Given the description of an element on the screen output the (x, y) to click on. 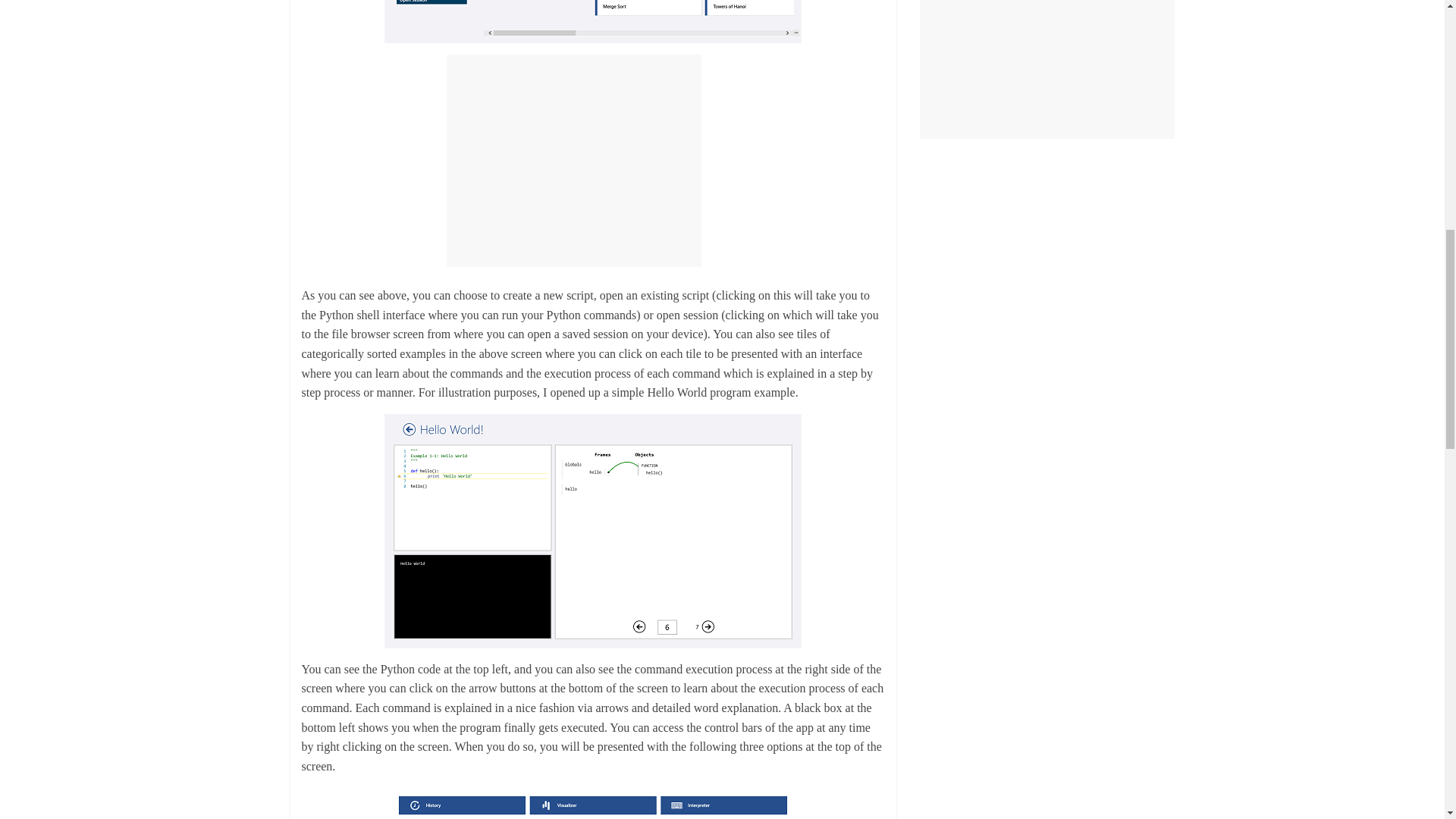
Python Tutor Main Screen (593, 21)
Python Tutor Step by Step Instructions (593, 531)
Python Tutor control bars (593, 803)
